Given the description of an element on the screen output the (x, y) to click on. 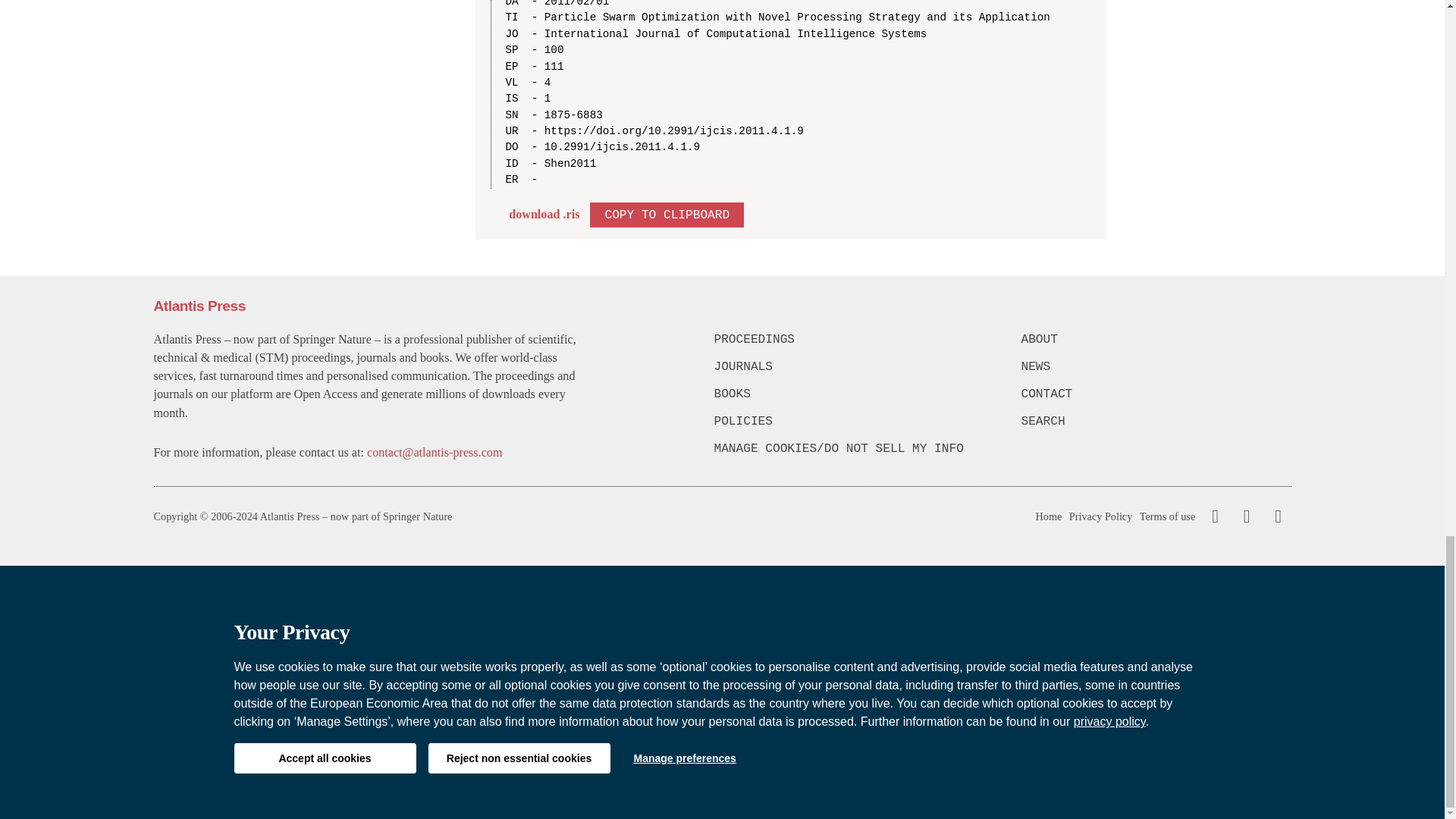
LinkedIn (1275, 516)
Twitter (1243, 516)
Facebook (1215, 516)
